Given the description of an element on the screen output the (x, y) to click on. 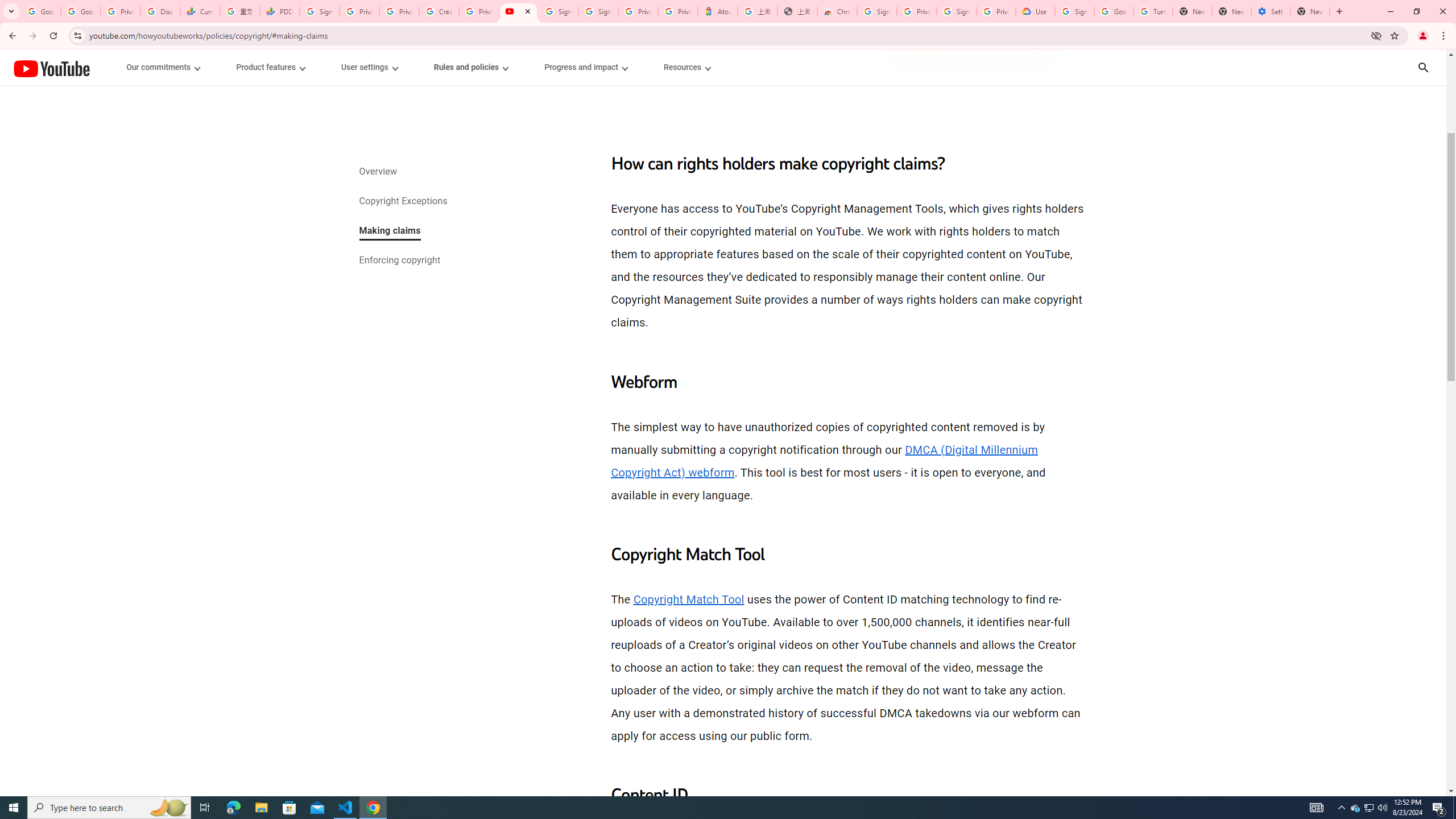
Google Account Help (1113, 11)
New Tab (1310, 11)
Sign in - Google Accounts (956, 11)
Chrome Web Store - Color themes by Chrome (836, 11)
Sign in - Google Accounts (557, 11)
Copyright Match Tool (688, 599)
Copyright Exceptions (402, 202)
